Given the description of an element on the screen output the (x, y) to click on. 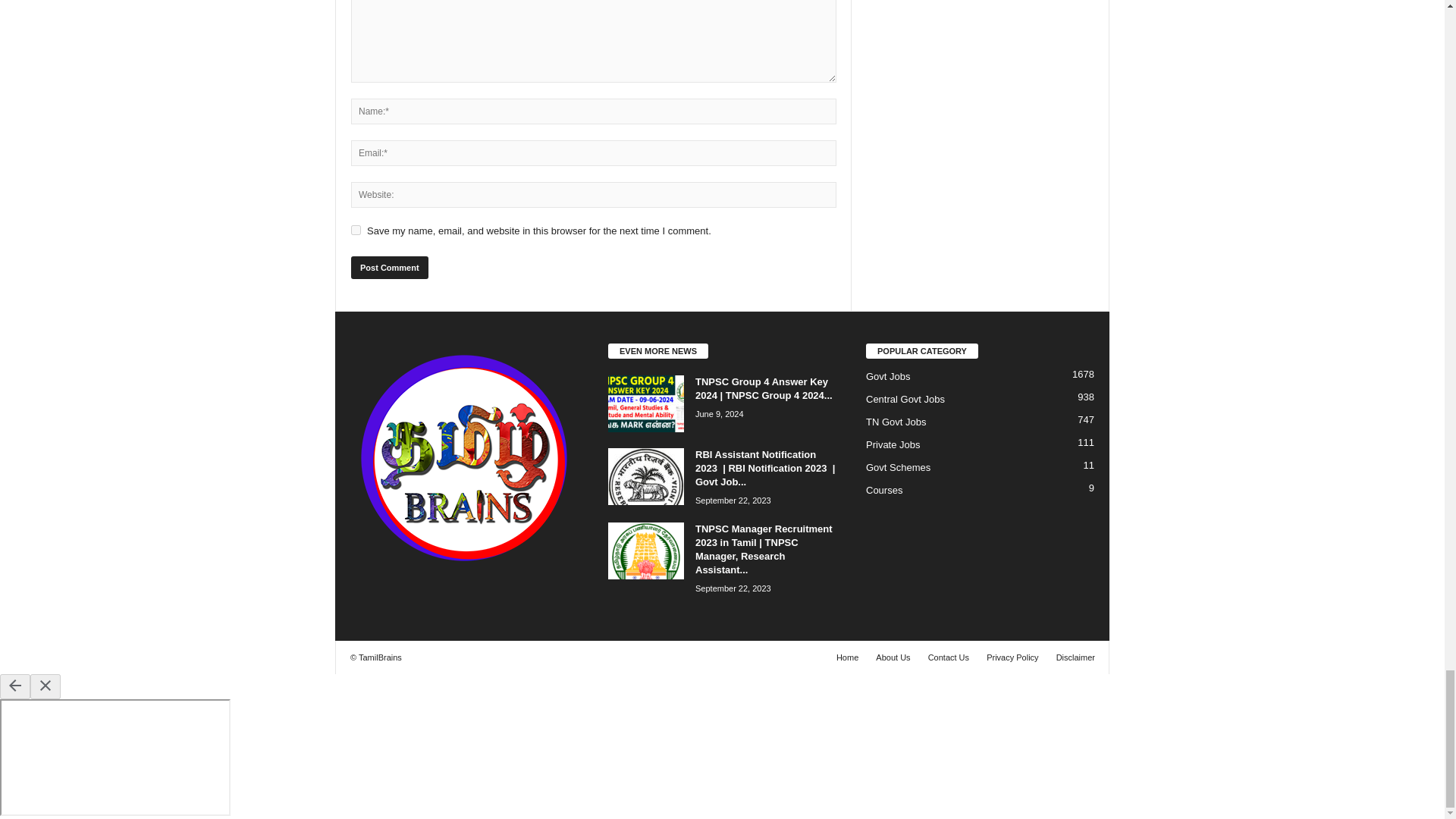
Post Comment (389, 267)
yes (355, 230)
